Given the description of an element on the screen output the (x, y) to click on. 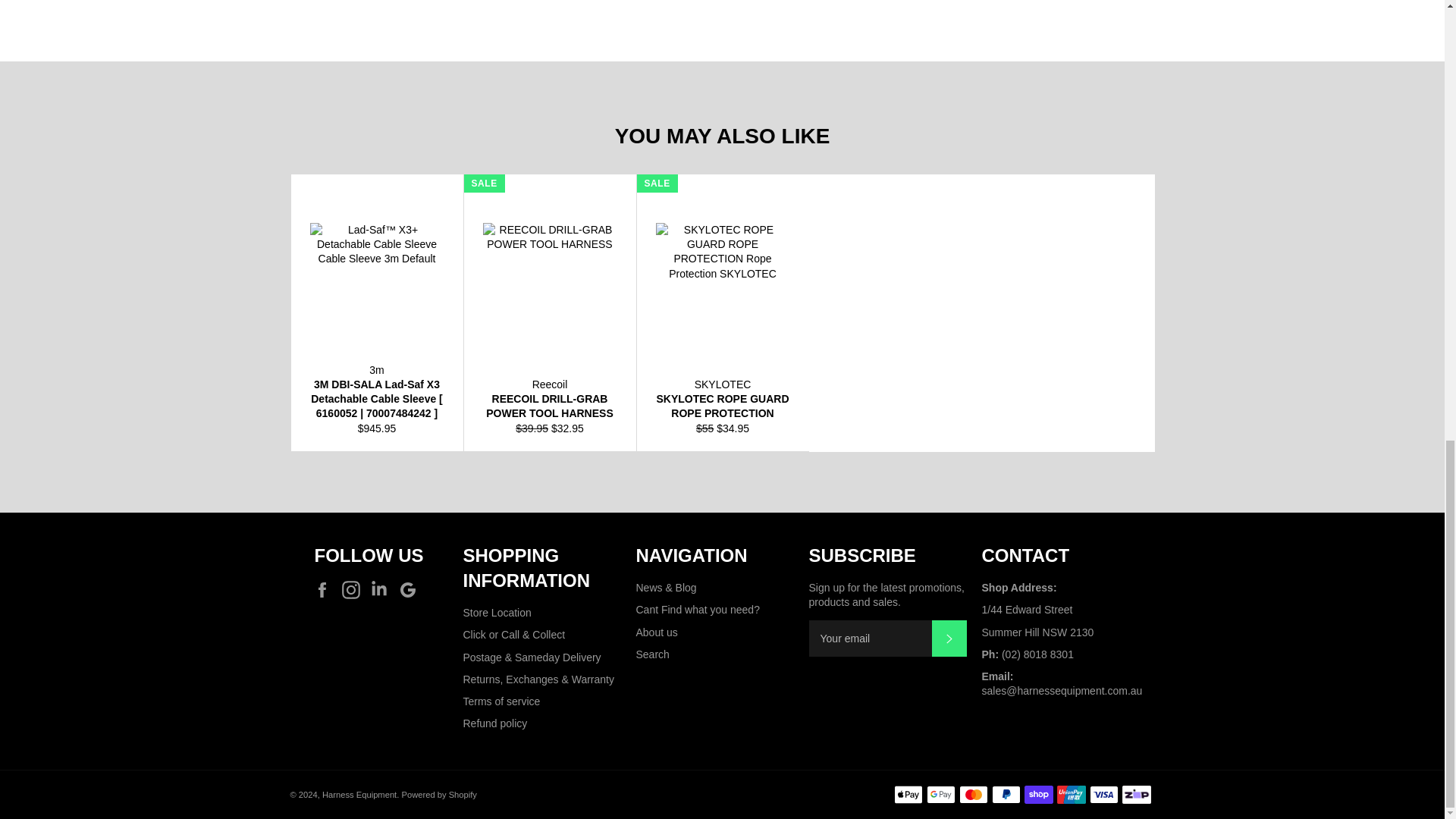
Harness Equipment on LinkedIn (382, 589)
Harness Equipment on Google (411, 589)
Harness Equipment on Facebook (326, 589)
Harness Equipment on Instagram (355, 589)
